Given the description of an element on the screen output the (x, y) to click on. 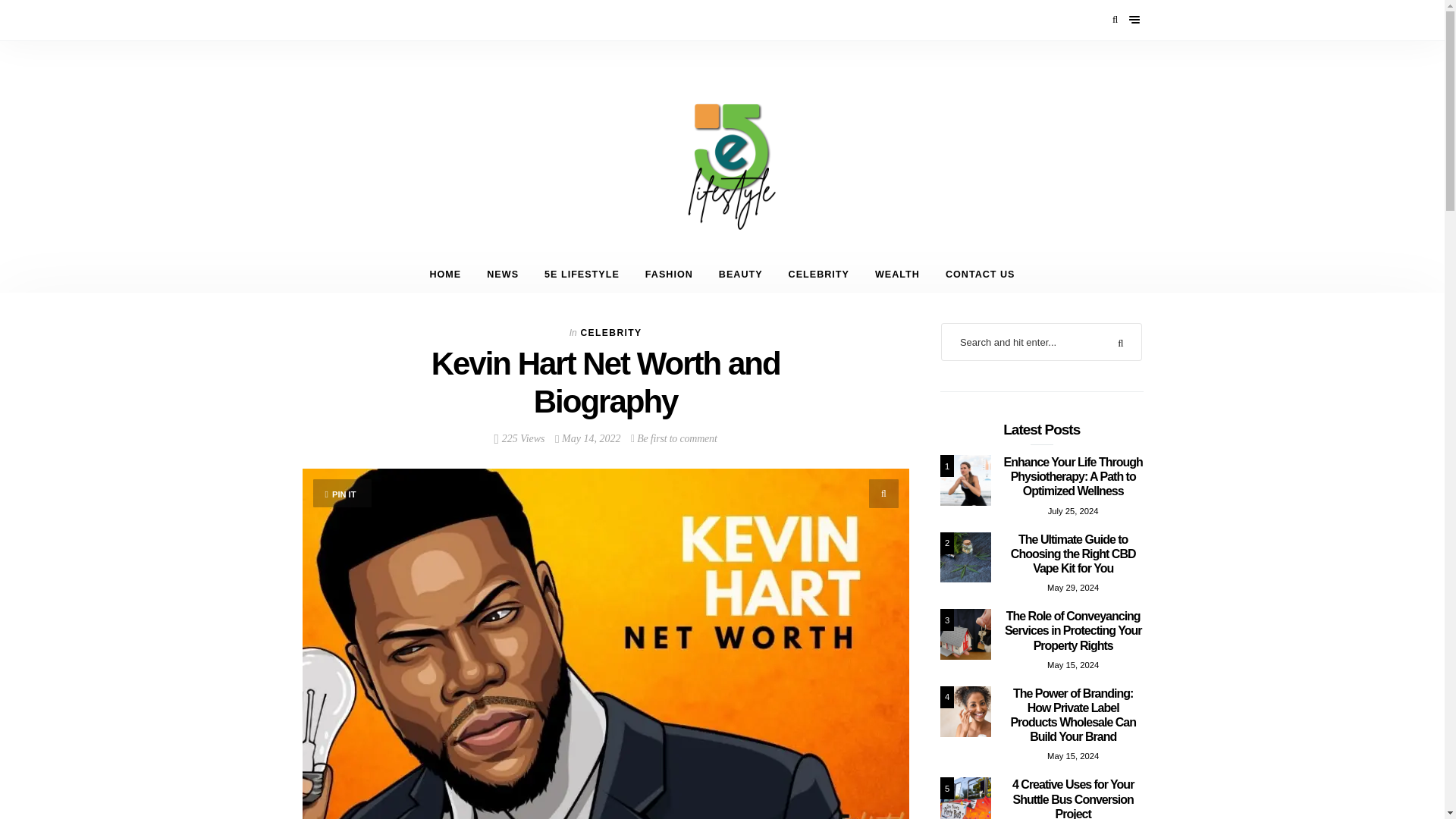
CONTACT US (980, 274)
5E LIFESTYLE (581, 274)
Be first to comment (673, 438)
BEAUTY (741, 274)
PIN IT (342, 492)
NEWS (502, 274)
CELEBRITY (818, 274)
WEALTH (897, 274)
